Given the description of an element on the screen output the (x, y) to click on. 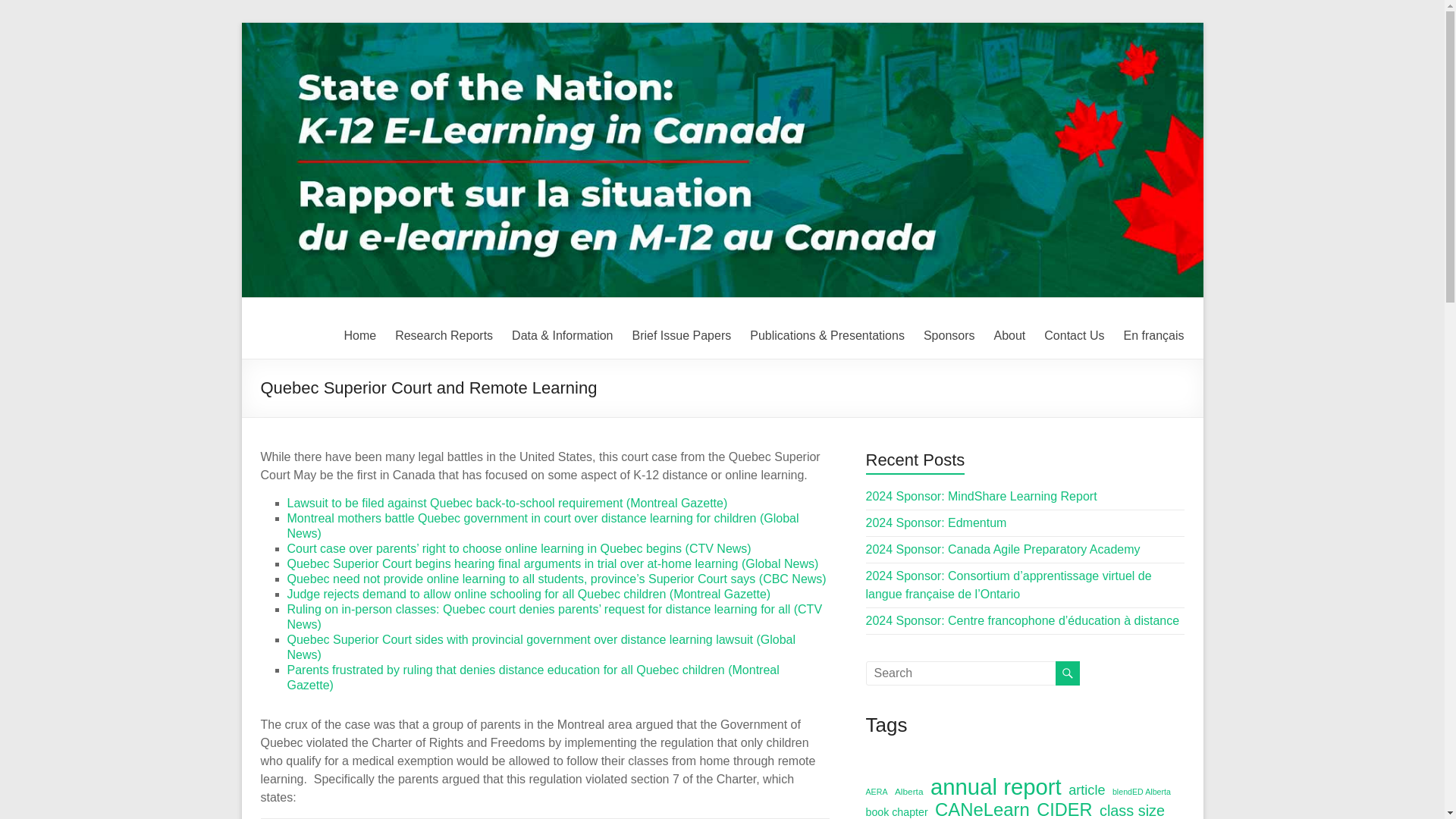
Brief Issue Papers (681, 335)
2024 Sponsor: Canada Agile Preparatory Academy (1003, 549)
Sponsors (949, 335)
About (1008, 335)
State of the Nation: K-12 E-Learning in Canada (546, 329)
2024 Sponsor: MindShare Learning Report (981, 495)
2024 Sponsor: Edmentum (936, 522)
Contact Us (1073, 335)
Research Reports (443, 335)
